Given the description of an element on the screen output the (x, y) to click on. 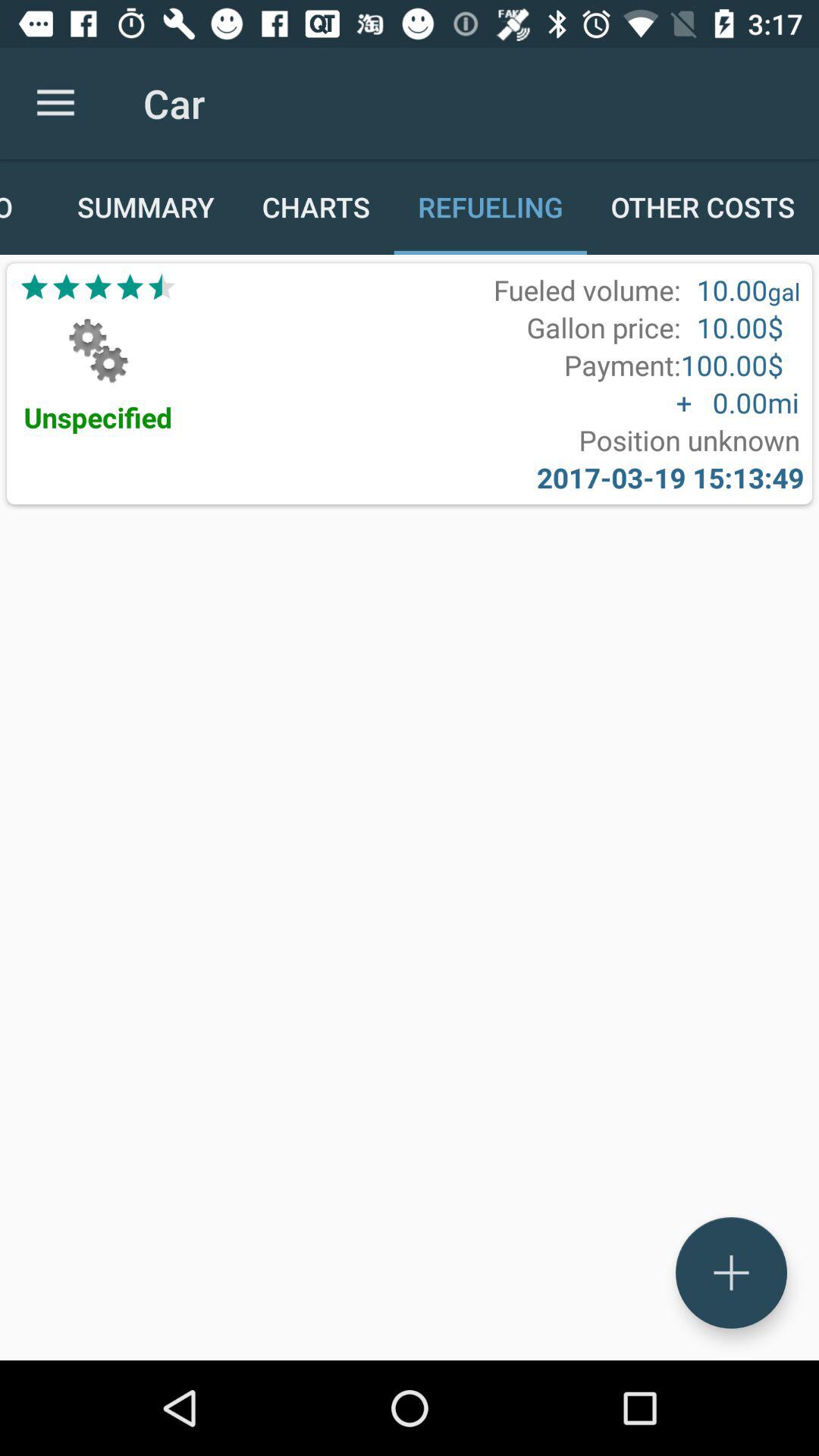
add fuel visit (731, 1272)
